Given the description of an element on the screen output the (x, y) to click on. 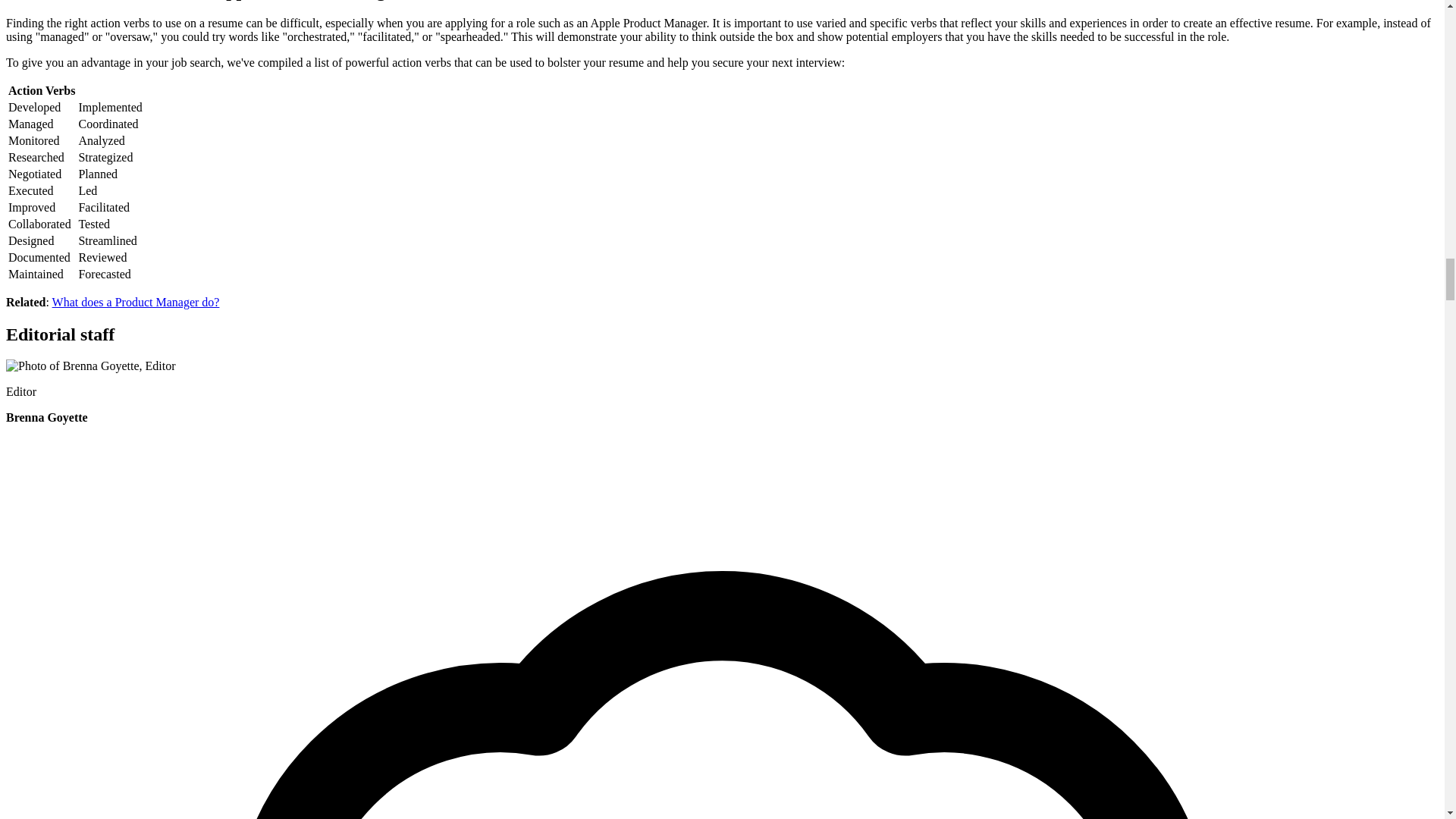
What does a Product Manager do? (135, 301)
